Given the description of an element on the screen output the (x, y) to click on. 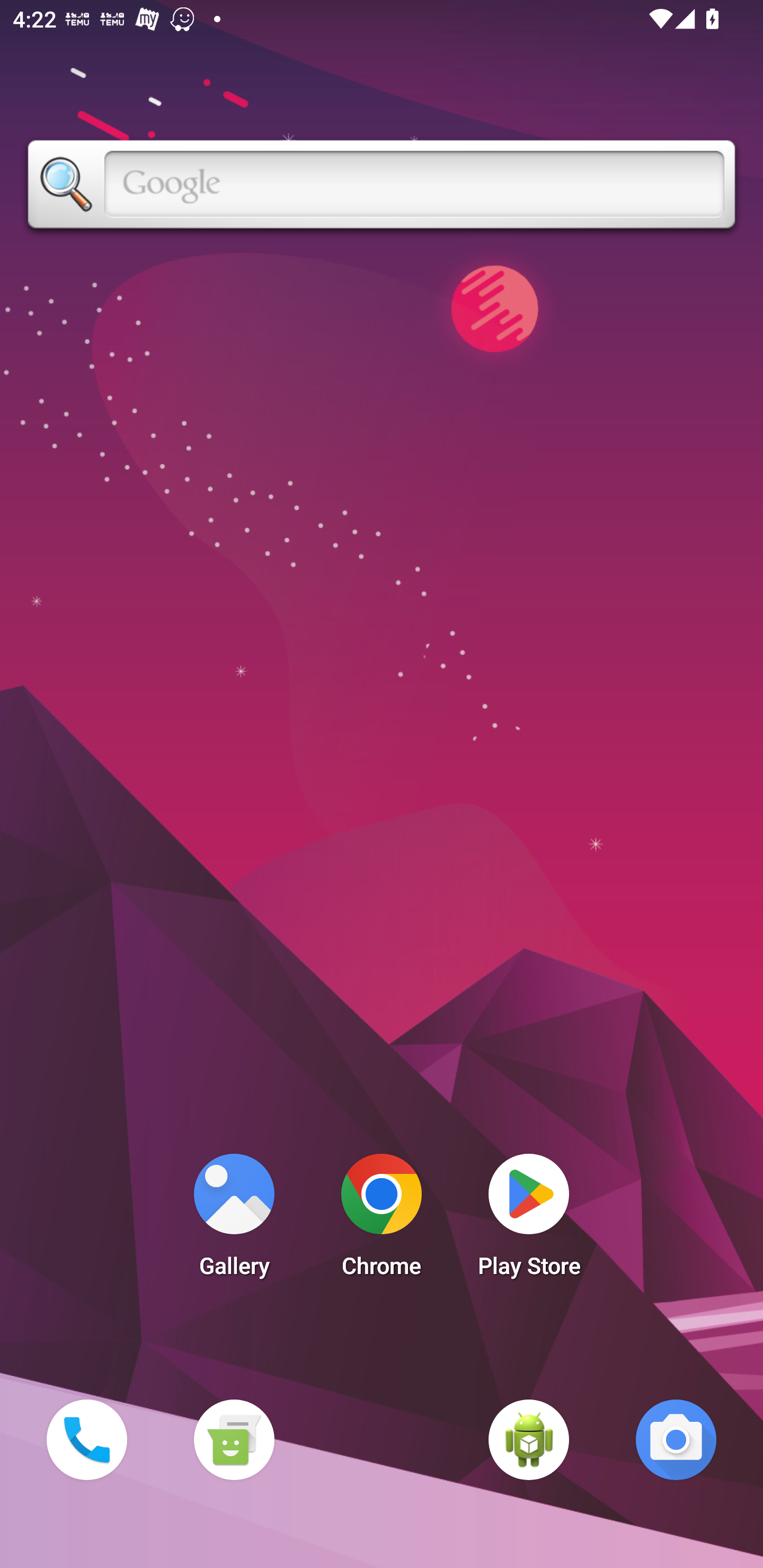
Gallery (233, 1220)
Chrome (381, 1220)
Play Store (528, 1220)
Phone (86, 1439)
Messaging (233, 1439)
WebView Browser Tester (528, 1439)
Camera (676, 1439)
